Given the description of an element on the screen output the (x, y) to click on. 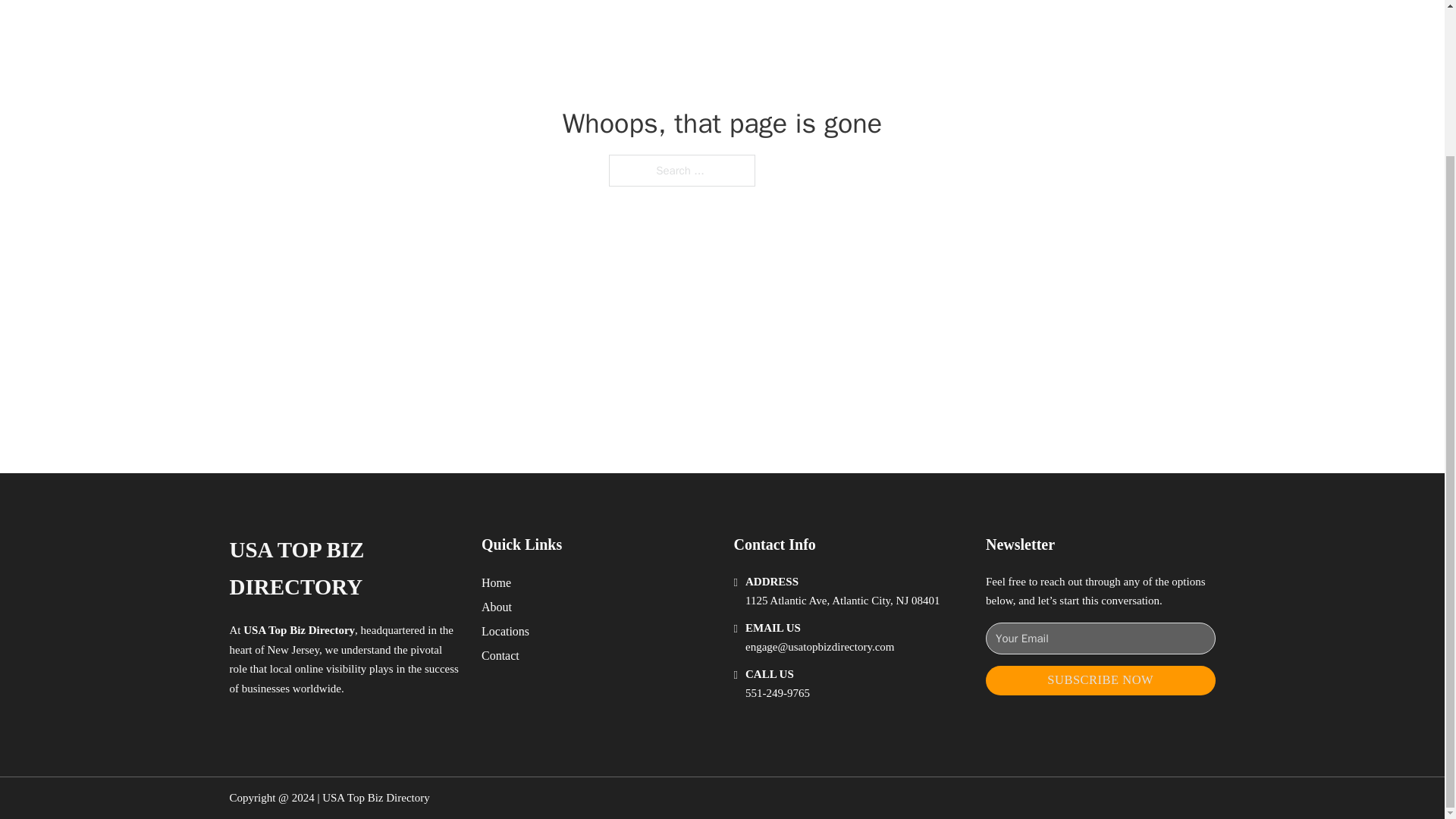
Locations (505, 630)
About (496, 607)
Contact (500, 655)
551-249-9765 (777, 693)
USA TOP BIZ DIRECTORY (343, 568)
SUBSCRIBE NOW (1100, 680)
Home (496, 582)
